Given the description of an element on the screen output the (x, y) to click on. 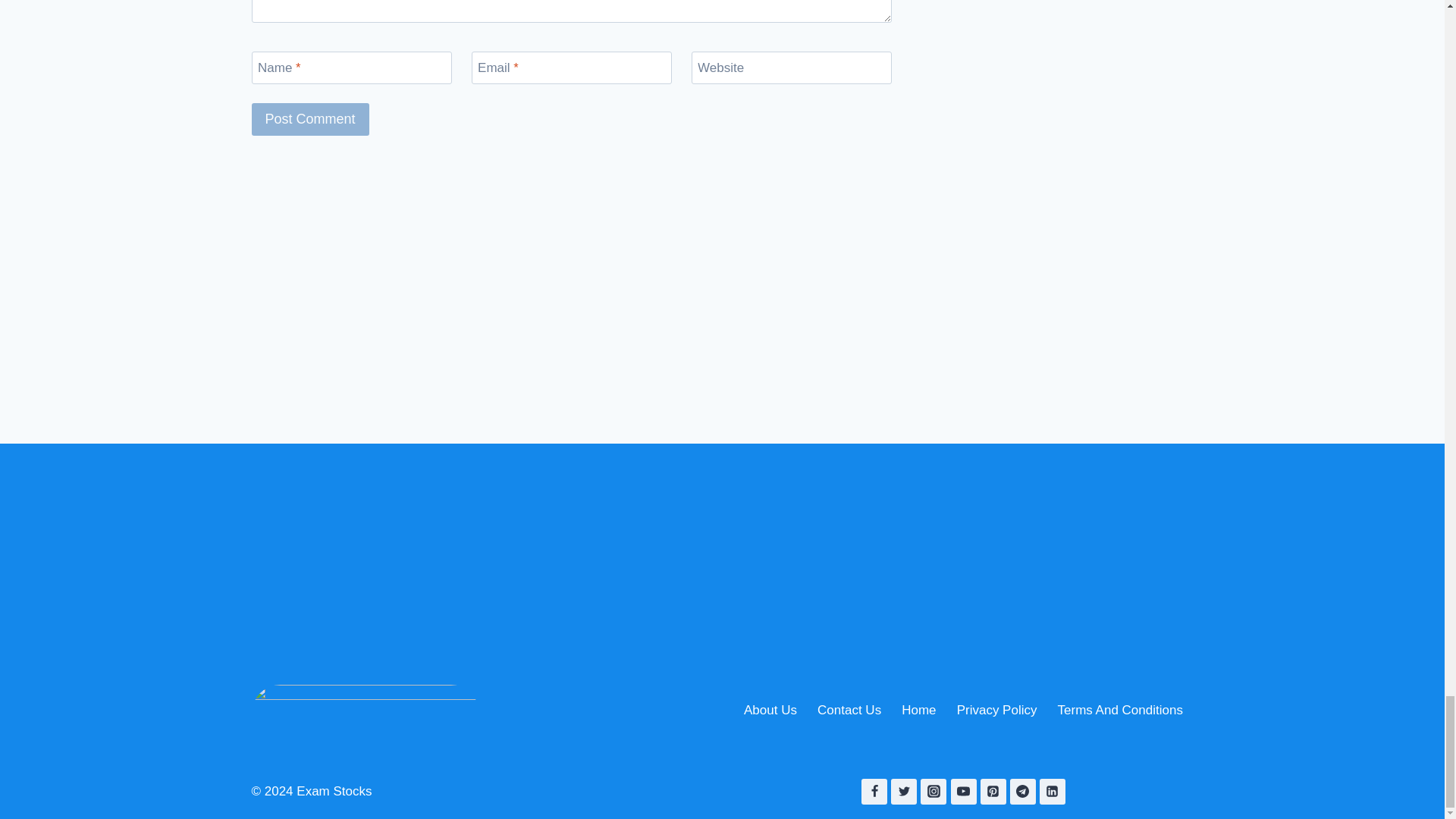
Post Comment (310, 119)
Post Comment (310, 119)
About Us (770, 710)
Contact Us (848, 710)
